Given the description of an element on the screen output the (x, y) to click on. 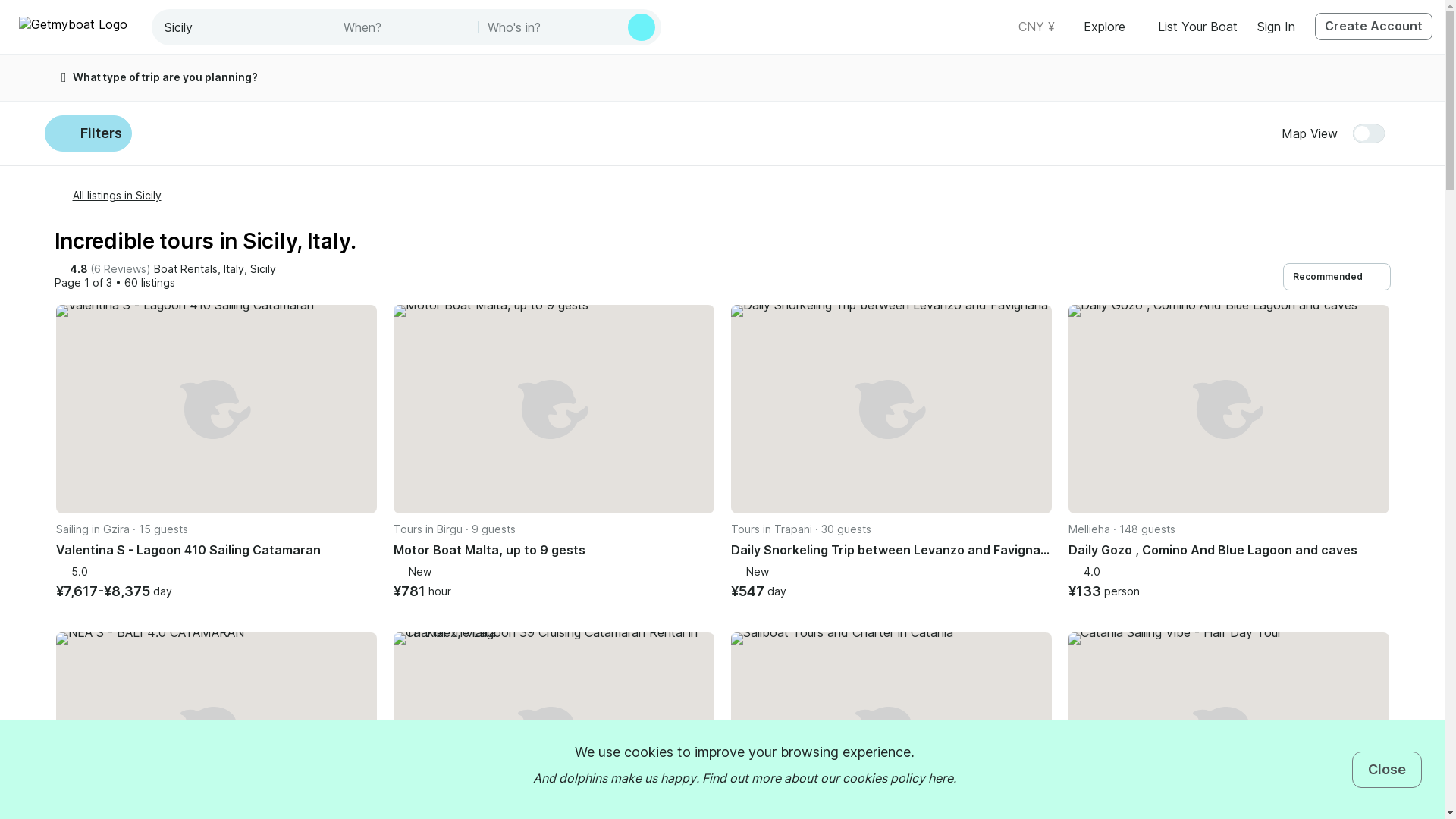
Boat Rentals (184, 269)
List Your Boat (1197, 26)
cookies policy here (896, 777)
Sign In (1276, 26)
Sicily (263, 269)
Italy (232, 269)
Search (641, 26)
Create Account (1373, 26)
Close (1387, 769)
Filters (88, 133)
Recommended (1336, 276)
Sicily (244, 26)
Explore (1109, 25)
